Given the description of an element on the screen output the (x, y) to click on. 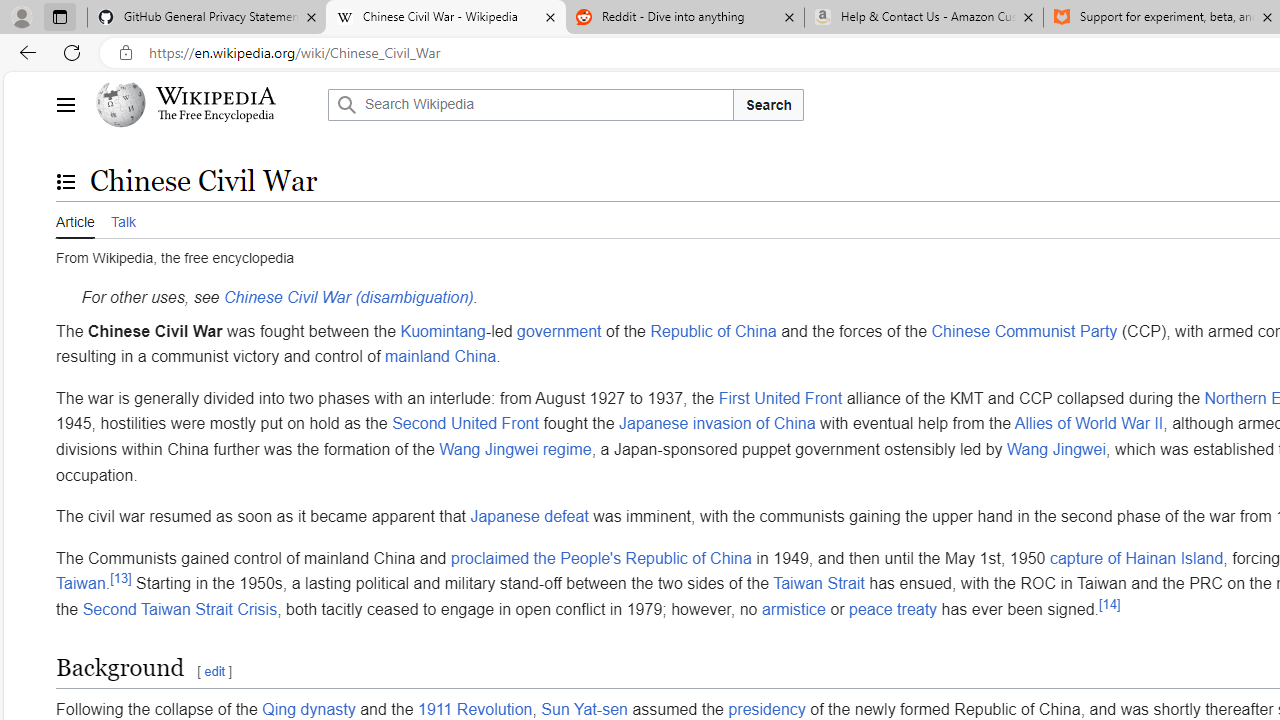
Kuomintang (442, 330)
Chinese Civil War (disambiguation) (347, 297)
edit (214, 670)
Talk (122, 219)
government (559, 330)
Wikipedia The Free Encyclopedia (206, 104)
[13] (120, 578)
Chinese Communist Party (1023, 330)
Japanese defeat (528, 517)
The Free Encyclopedia (216, 116)
GitHub General Privacy Statement - GitHub Docs (207, 17)
Republic of China (713, 330)
